Given the description of an element on the screen output the (x, y) to click on. 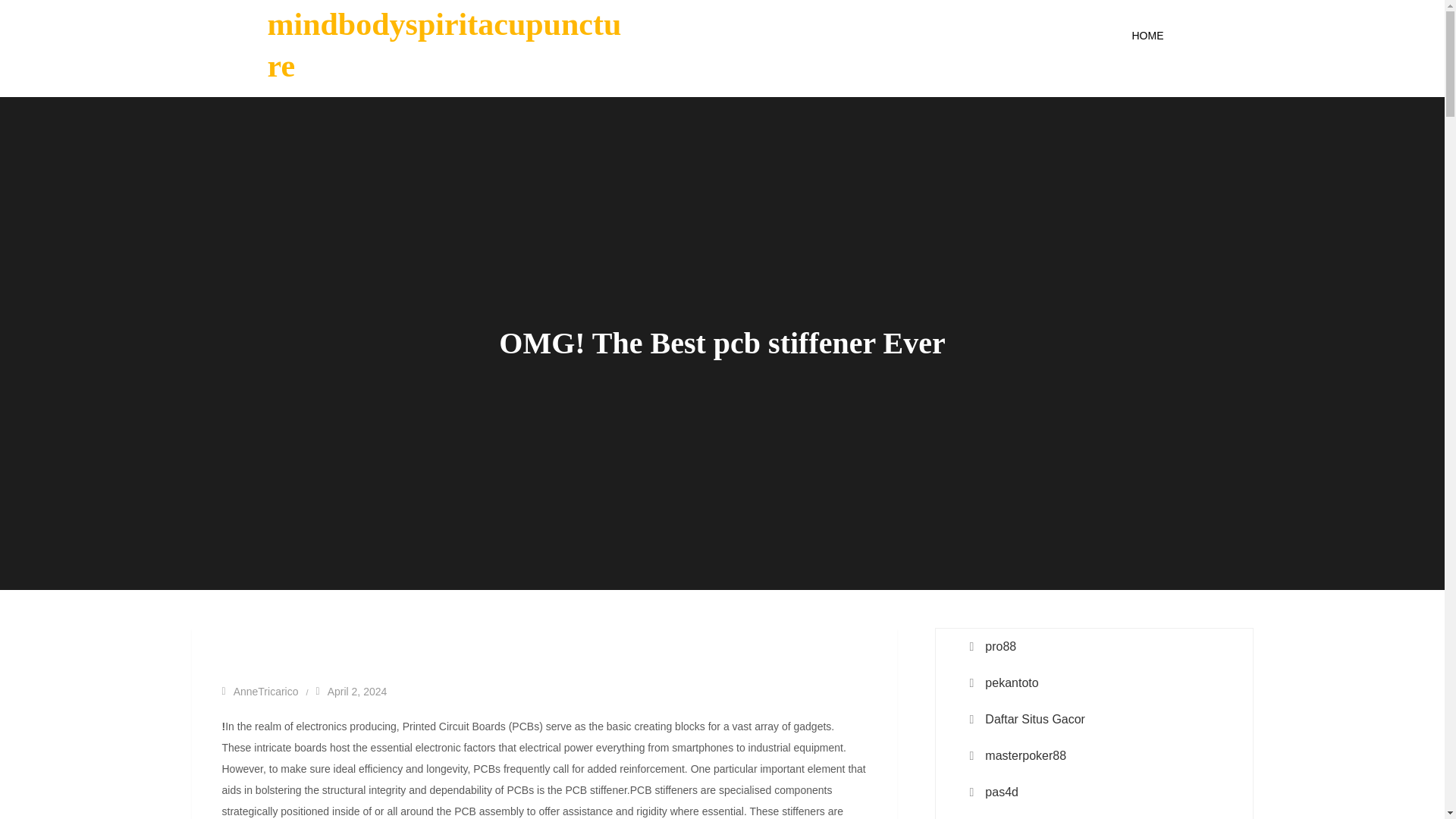
pas4d (1001, 792)
pro88 (1000, 646)
Daftar Situs Gacor (1034, 719)
April 2, 2024 (351, 691)
pekantoto (1011, 682)
AnneTricarico (259, 691)
mindbodyspiritacupuncture (443, 44)
HOME (1147, 35)
diana4d (1006, 818)
masterpoker88 (1025, 755)
